Given the description of an element on the screen output the (x, y) to click on. 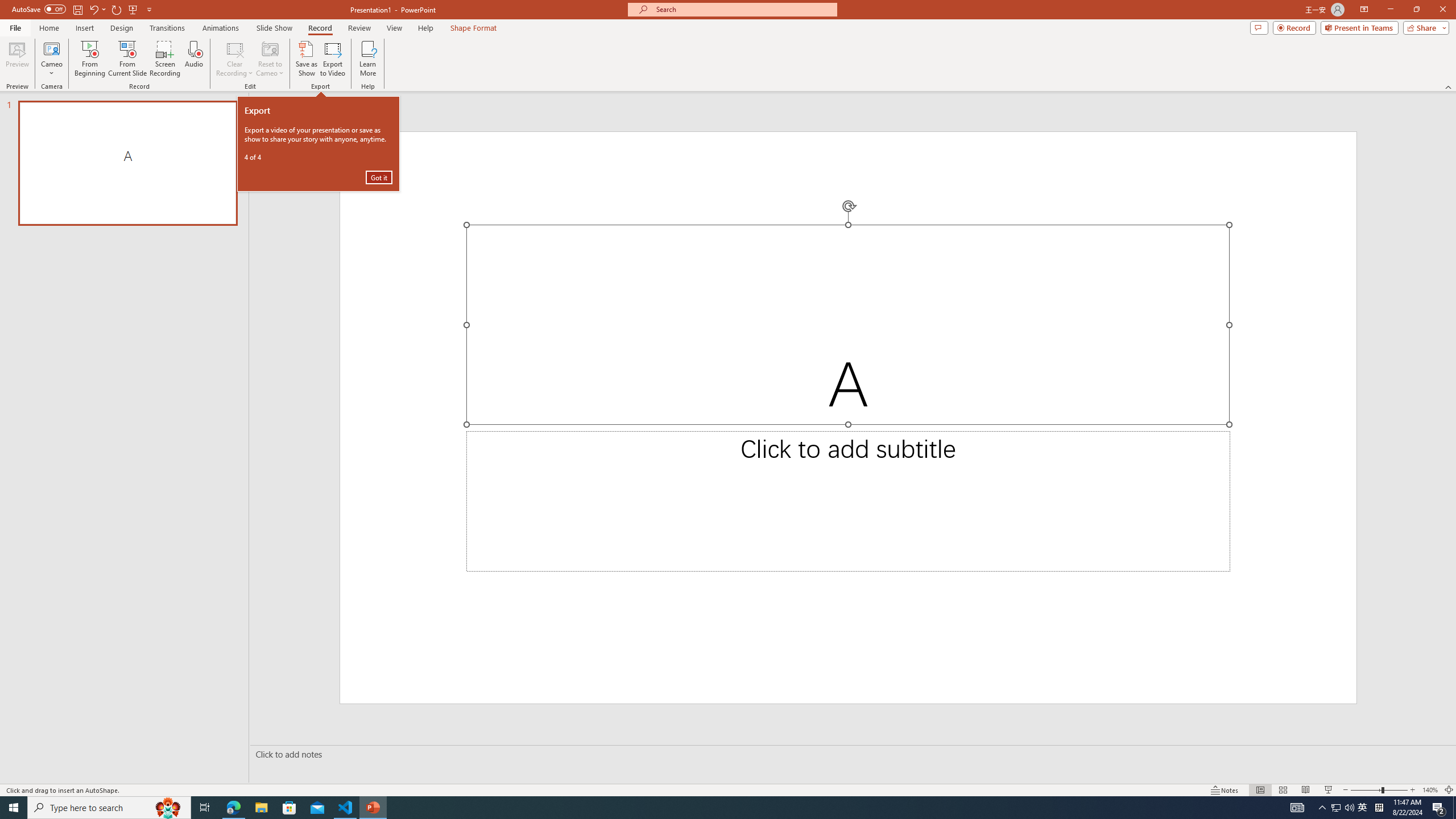
Got it (379, 177)
